Given the description of an element on the screen output the (x, y) to click on. 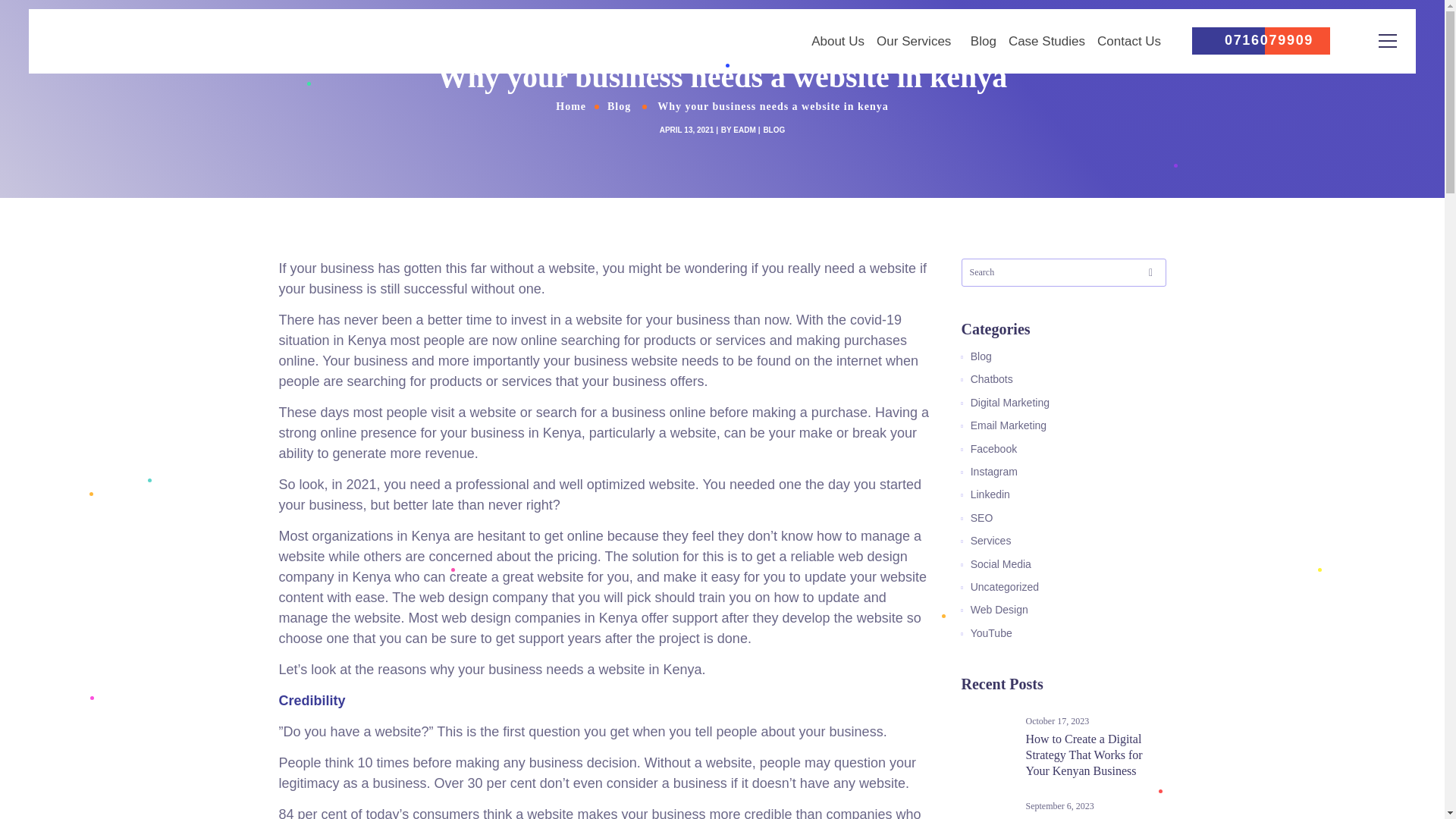
Search (1339, 81)
Home (570, 105)
Chatbots (993, 379)
0716079909 (1260, 40)
BLOG (773, 130)
Blog (619, 105)
EADM (744, 130)
Case Studies (1046, 41)
Contact Us (1128, 41)
Blog (983, 356)
Our Services (917, 41)
